Given the description of an element on the screen output the (x, y) to click on. 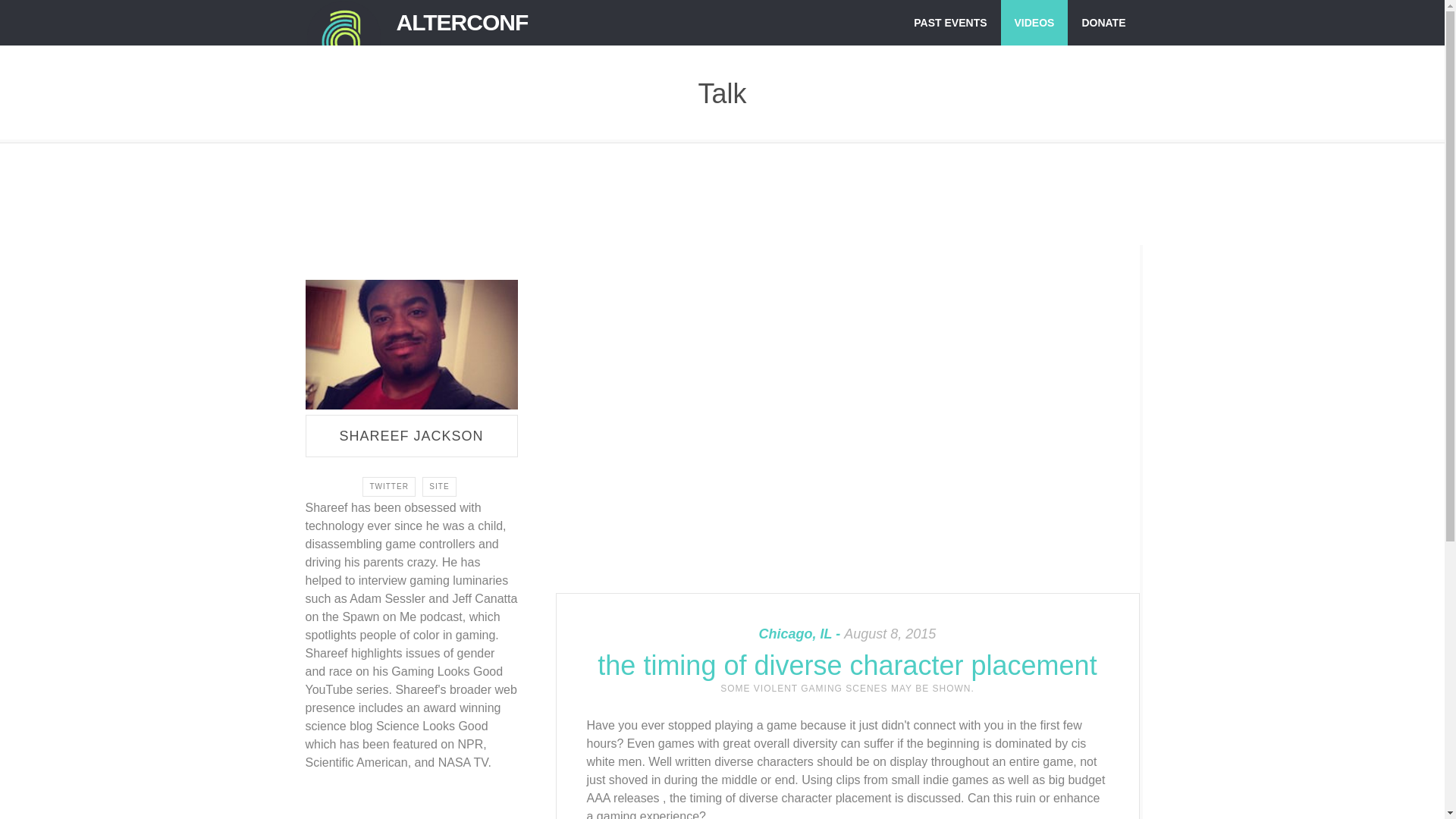
VIDEOS (1034, 22)
AlterConf (342, 22)
DONATE (1102, 22)
ALTERCONF (461, 22)
TWITTER (388, 486)
AlterConf (461, 22)
PAST EVENTS (949, 22)
SITE (438, 486)
Chicago, IL (801, 633)
